Given the description of an element on the screen output the (x, y) to click on. 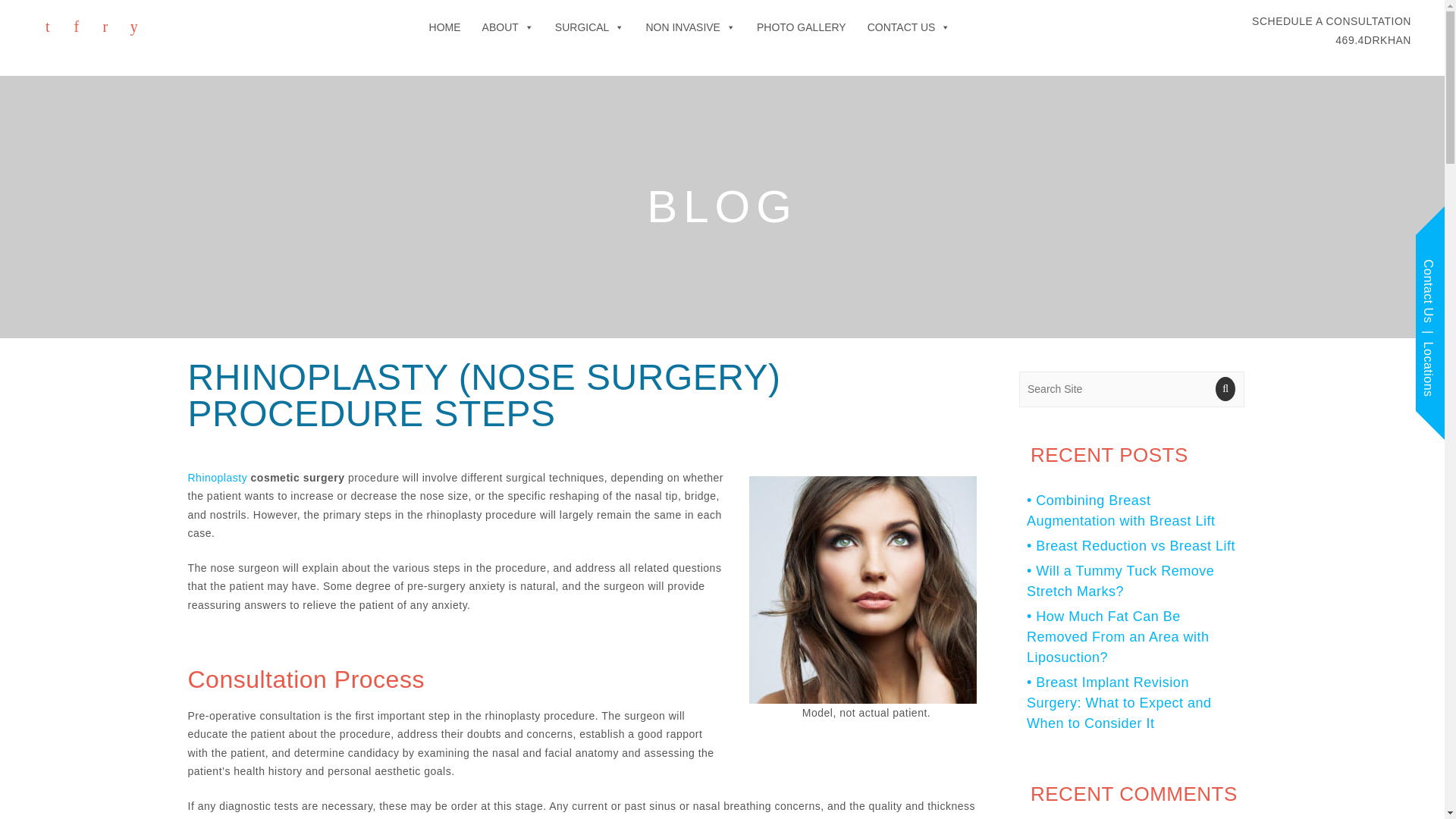
SURGICAL (589, 27)
NON INVASIVE (689, 27)
HOME (1331, 30)
ABOUT (445, 27)
